Given the description of an element on the screen output the (x, y) to click on. 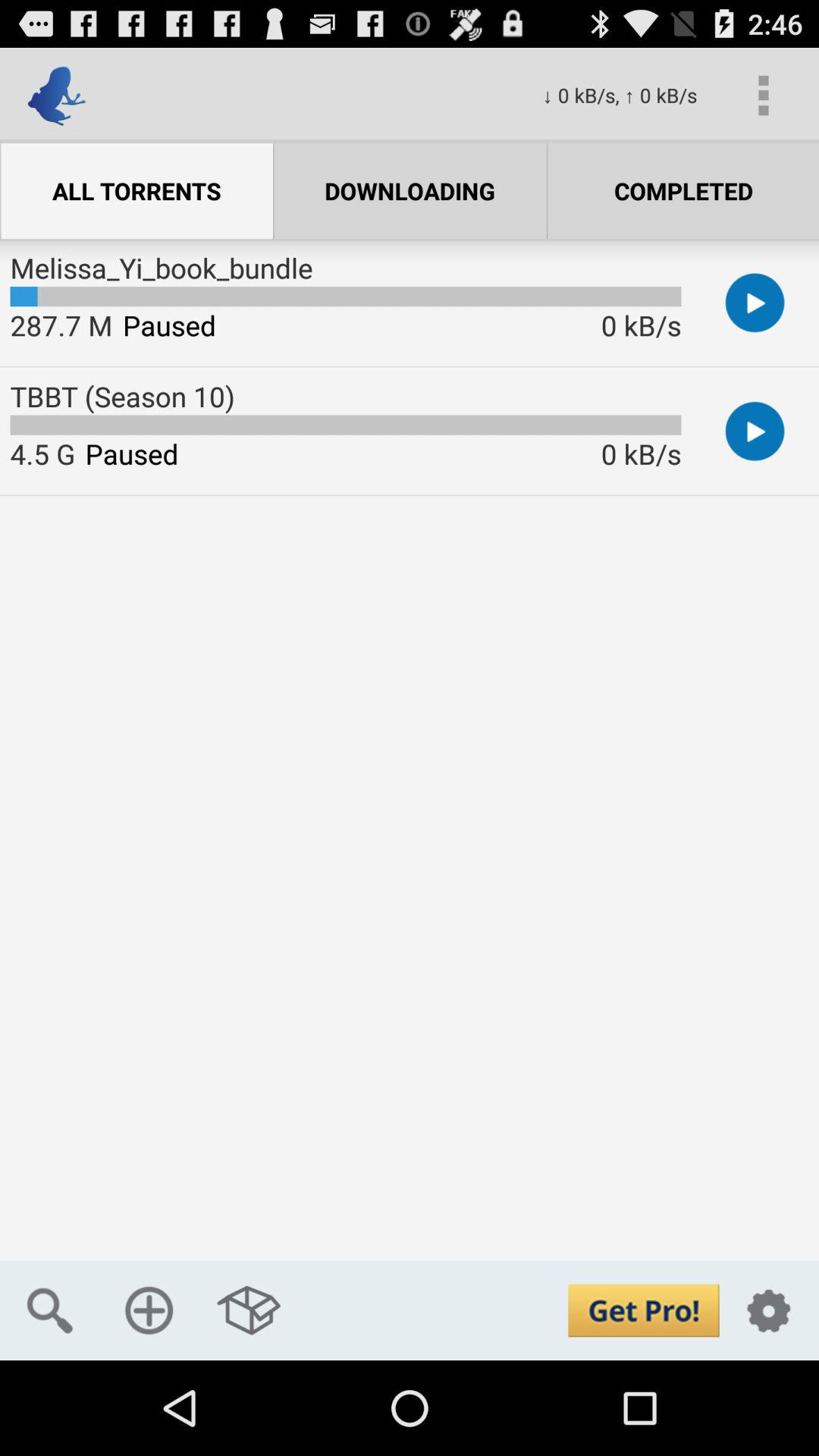
switch pause option (755, 430)
